Given the description of an element on the screen output the (x, y) to click on. 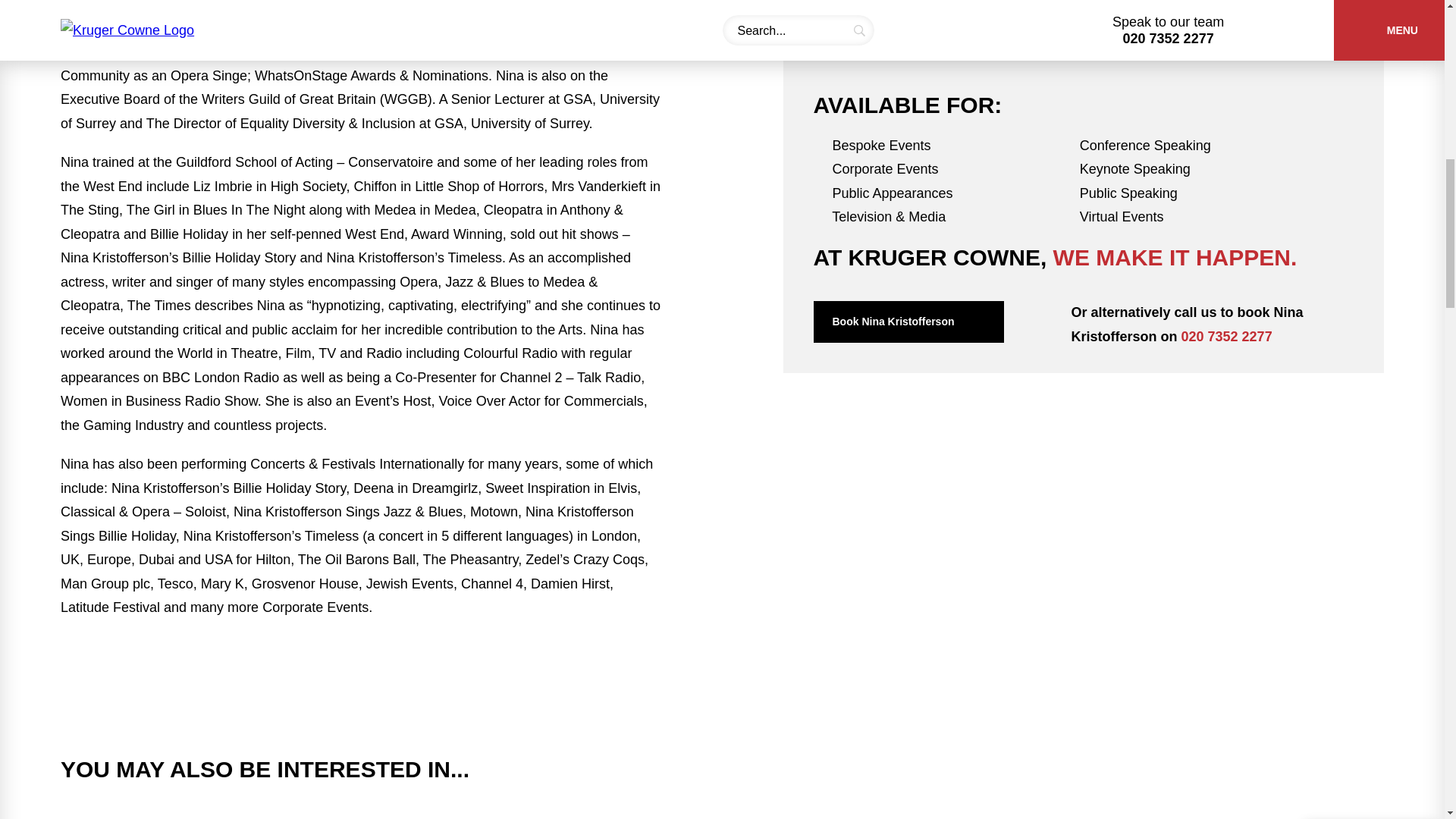
Book Nina Kristofferson (907, 322)
Your Shortlist (1370, 25)
020 7352 2277 (1226, 337)
